Given the description of an element on the screen output the (x, y) to click on. 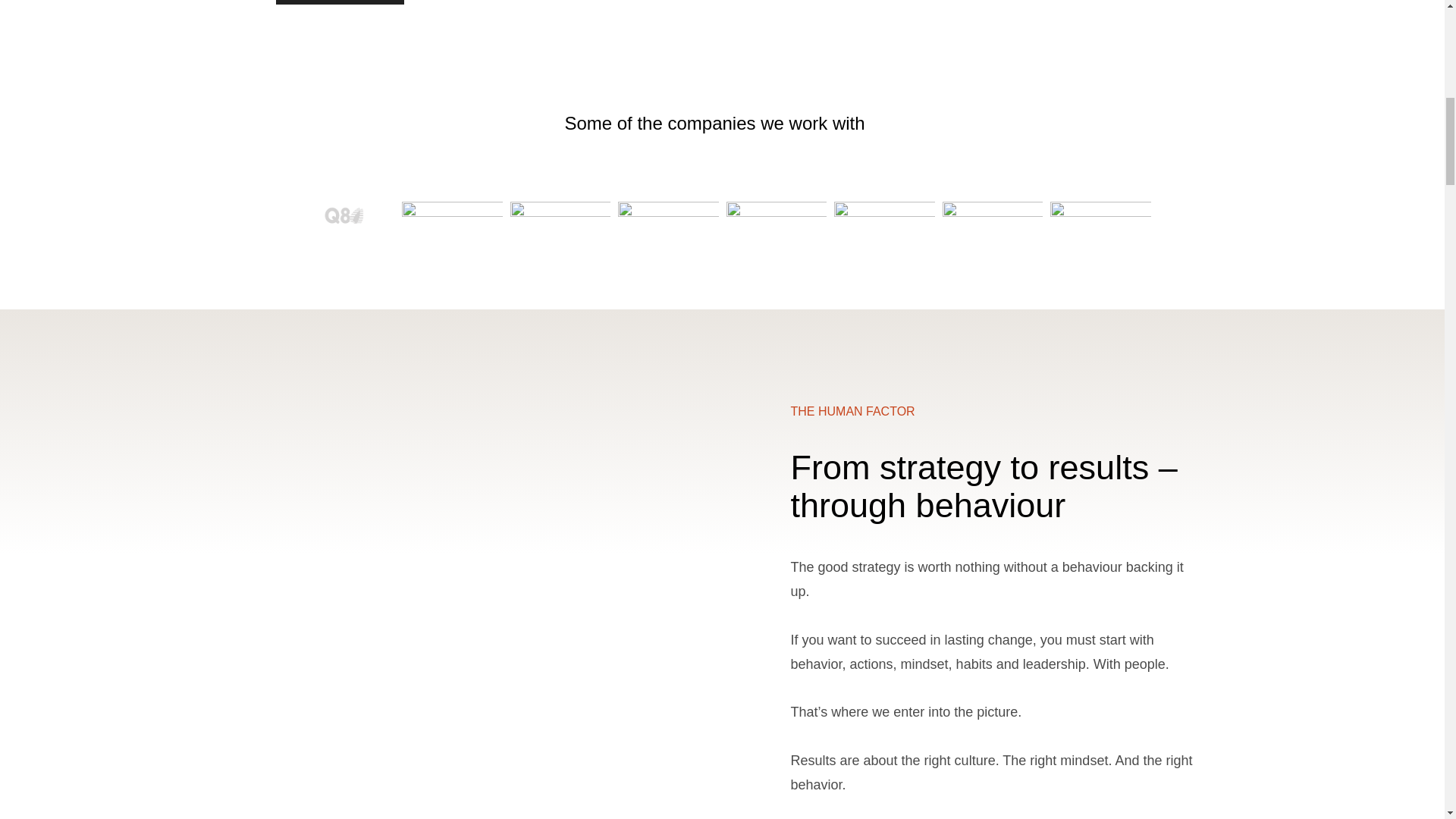
Get to know us (340, 2)
